Given the description of an element on the screen output the (x, y) to click on. 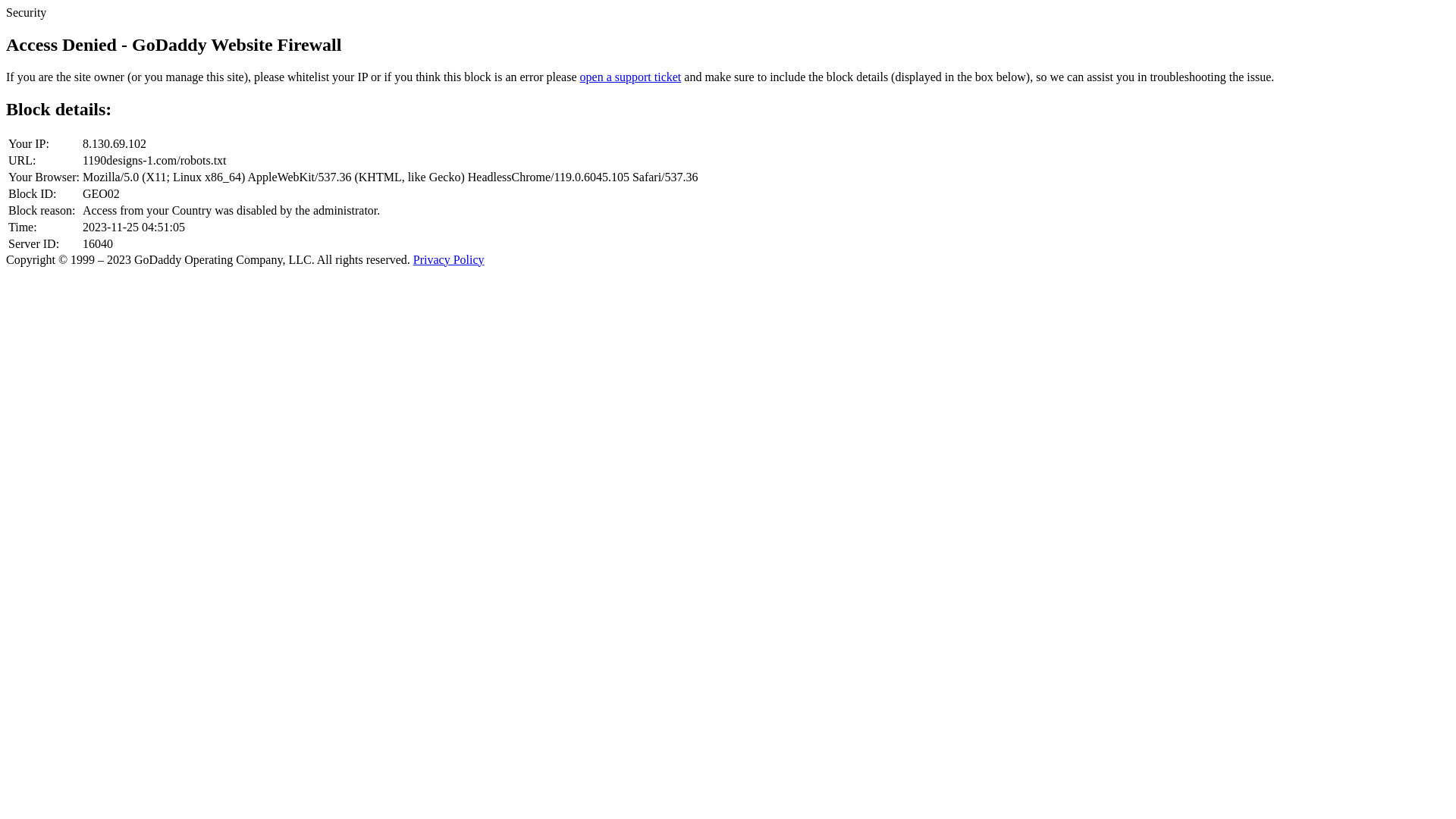
Privacy Policy Element type: text (448, 259)
open a support ticket Element type: text (630, 76)
